Given the description of an element on the screen output the (x, y) to click on. 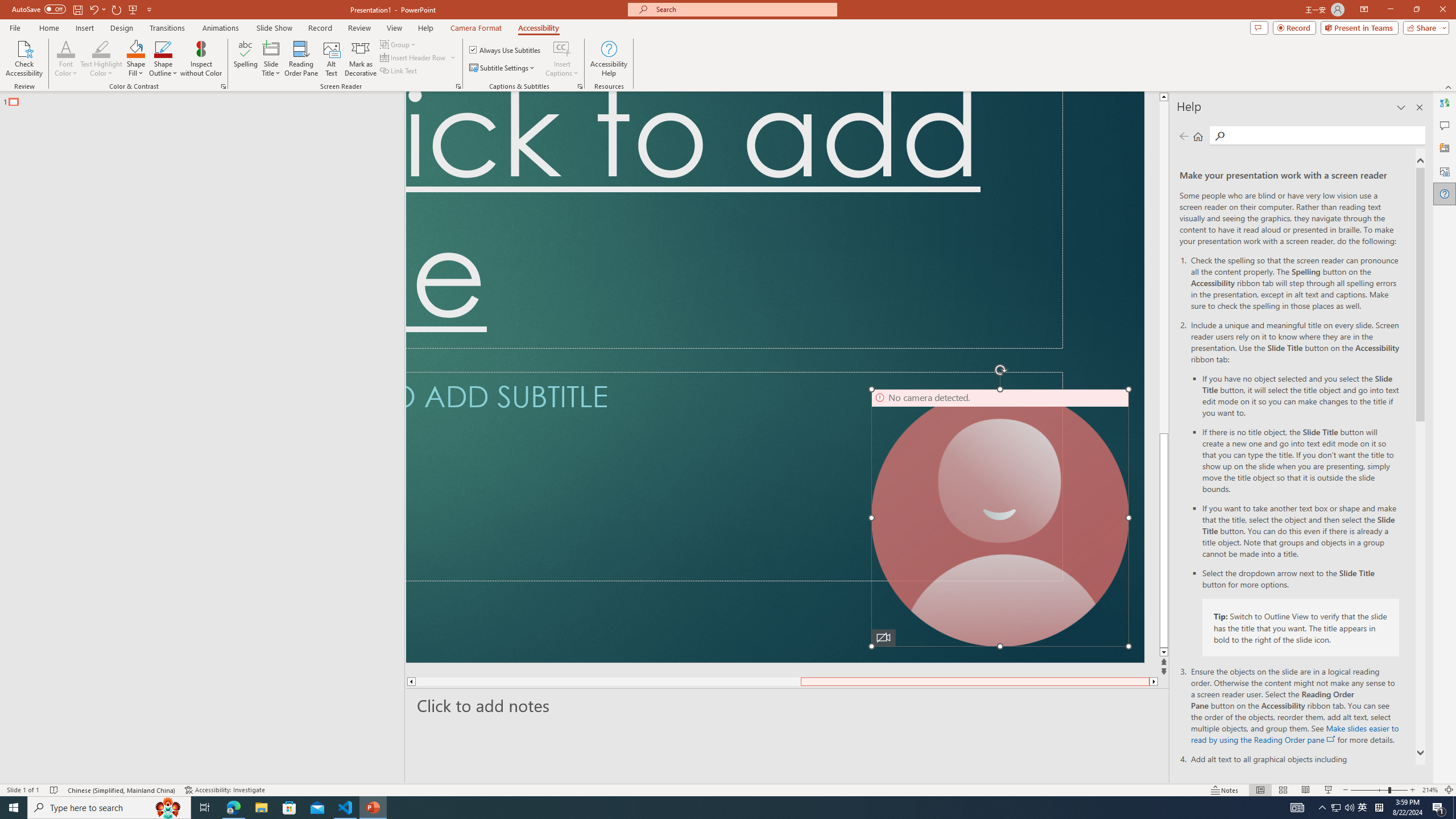
Alt Text (1444, 170)
Link Text (399, 69)
Previous page (1183, 136)
Camera Format (475, 28)
Alt Text (331, 58)
Inspect without Color (201, 58)
